Given the description of an element on the screen output the (x, y) to click on. 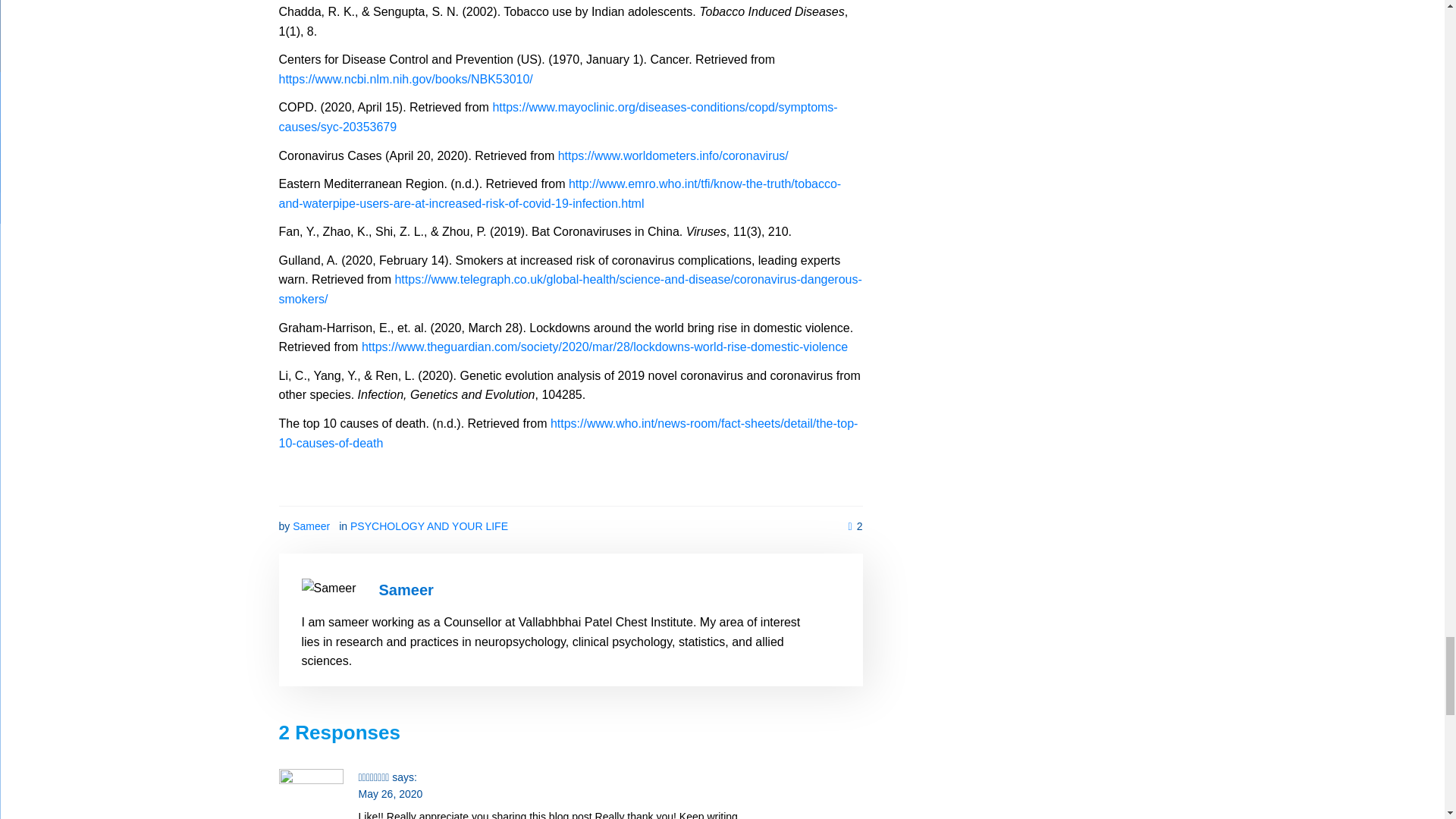
2 (855, 526)
PSYCHOLOGY AND YOUR LIFE (429, 526)
Sameer (311, 526)
May 26, 2020 (390, 793)
Posts by Sameer (405, 589)
Sameer (405, 589)
